Given the description of an element on the screen output the (x, y) to click on. 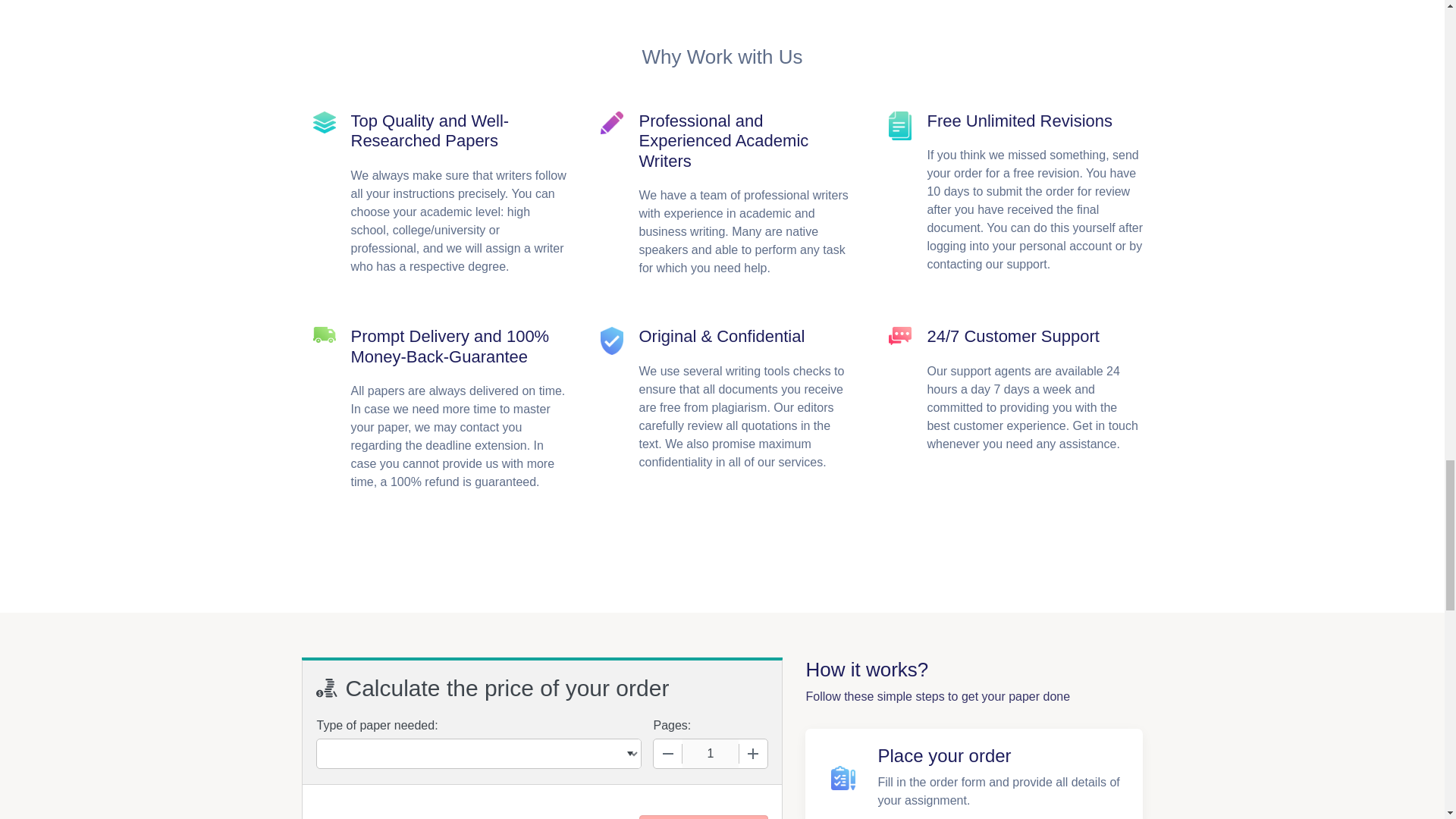
1 (710, 753)
Increase (752, 753)
Continue to order (703, 816)
Continue to Order (703, 816)
Continue to order (703, 816)
Decrease (667, 753)
